Given the description of an element on the screen output the (x, y) to click on. 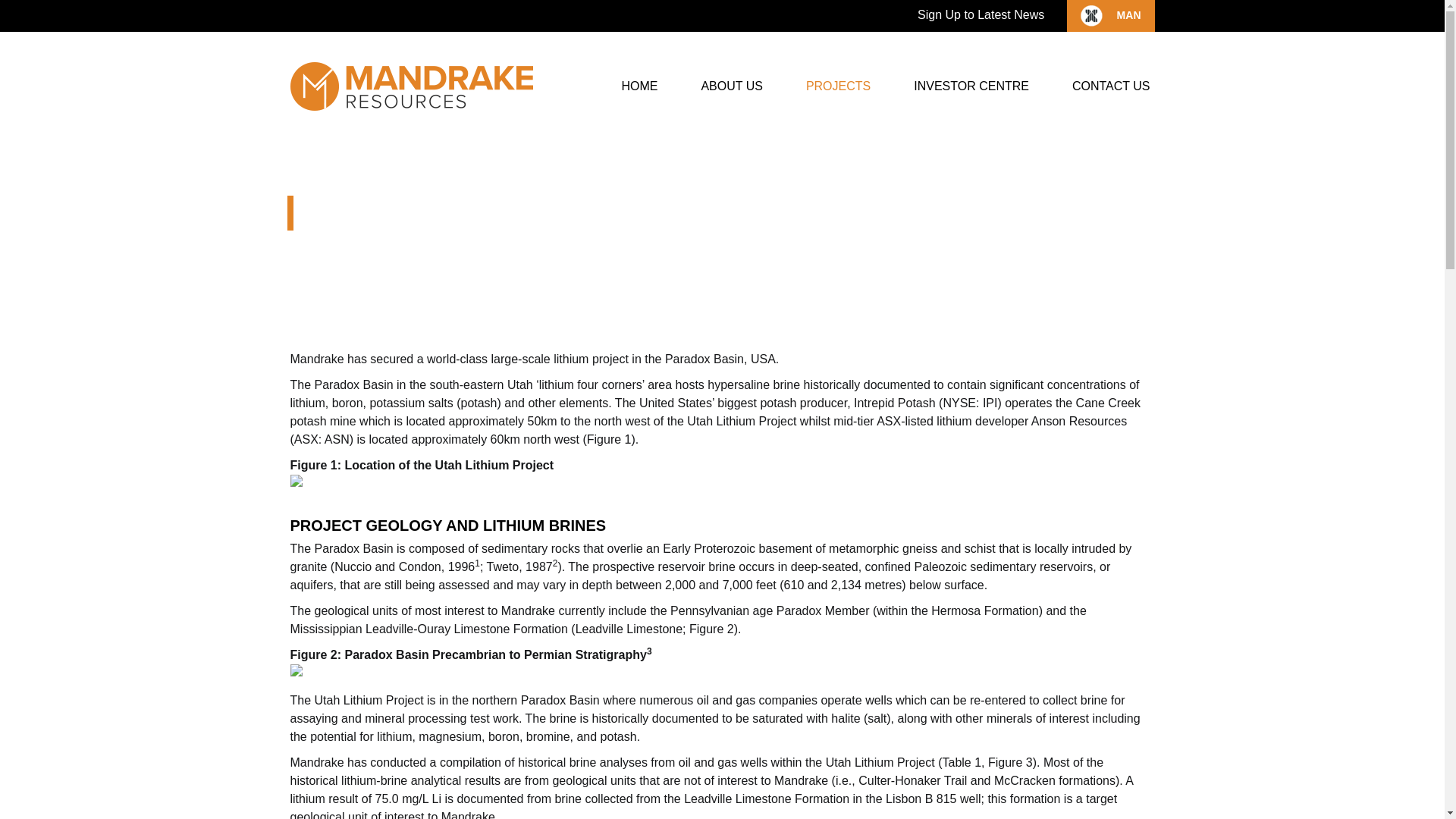
ABOUT US (725, 86)
Sign Up to Latest News (980, 14)
PROJECTS (832, 86)
INVESTOR CENTRE (965, 86)
HOME (634, 86)
CONTACT US (1105, 86)
MAN (1125, 15)
